Given the description of an element on the screen output the (x, y) to click on. 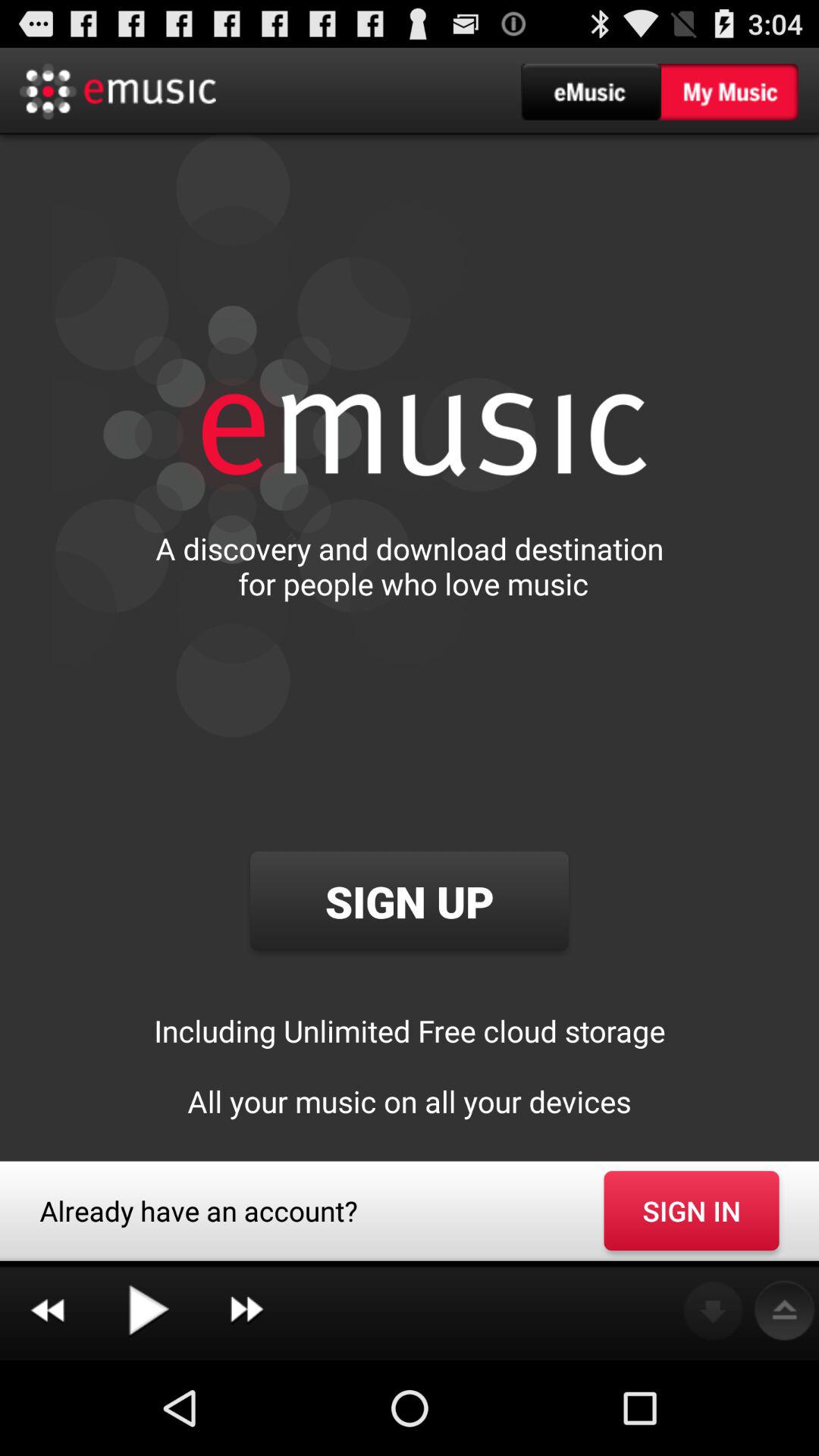
click app to the right of already have an item (691, 1210)
